Given the description of an element on the screen output the (x, y) to click on. 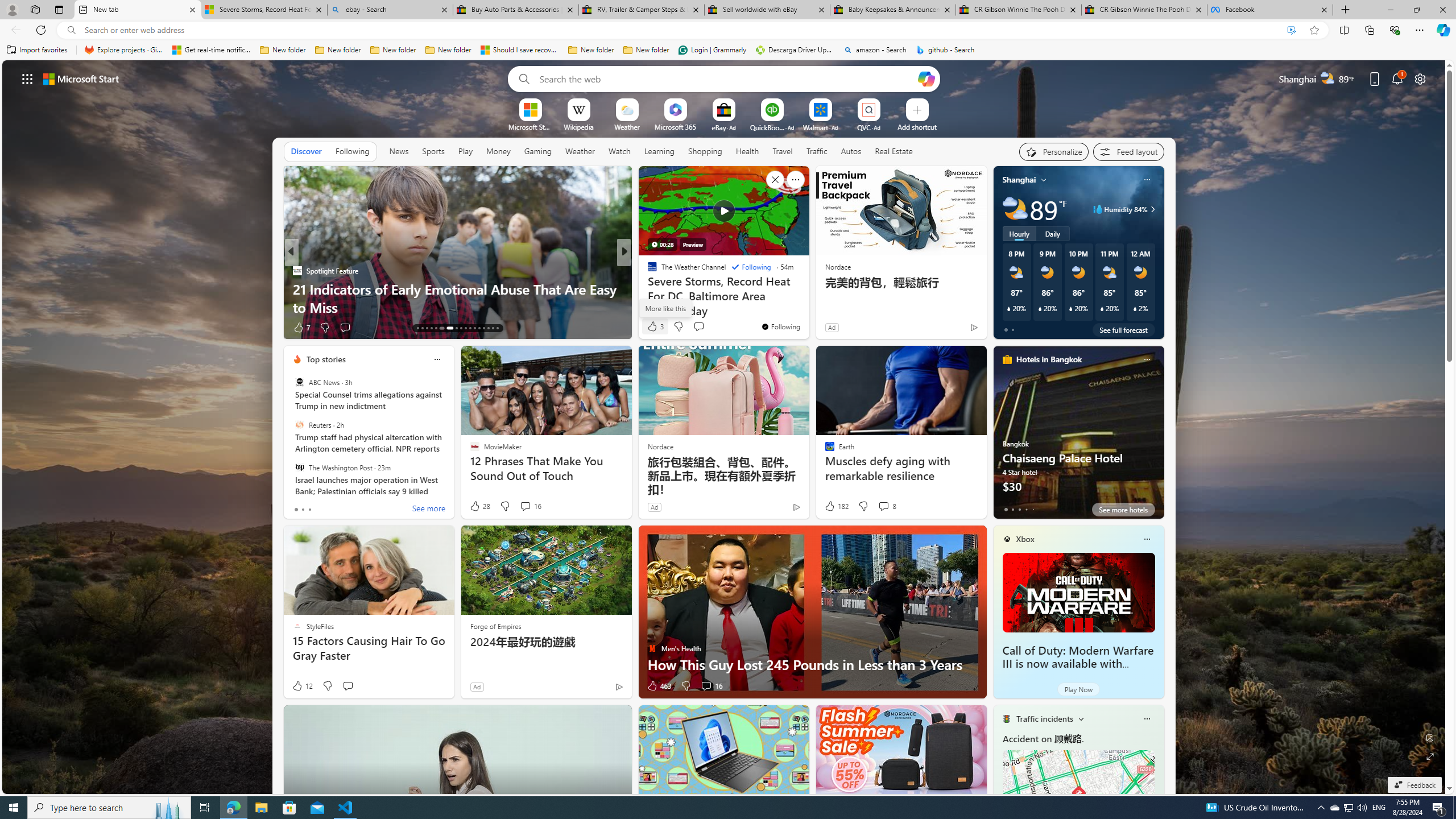
Microsoft start (81, 78)
Change scenarios (1080, 718)
28 Like (479, 505)
